Given the description of an element on the screen output the (x, y) to click on. 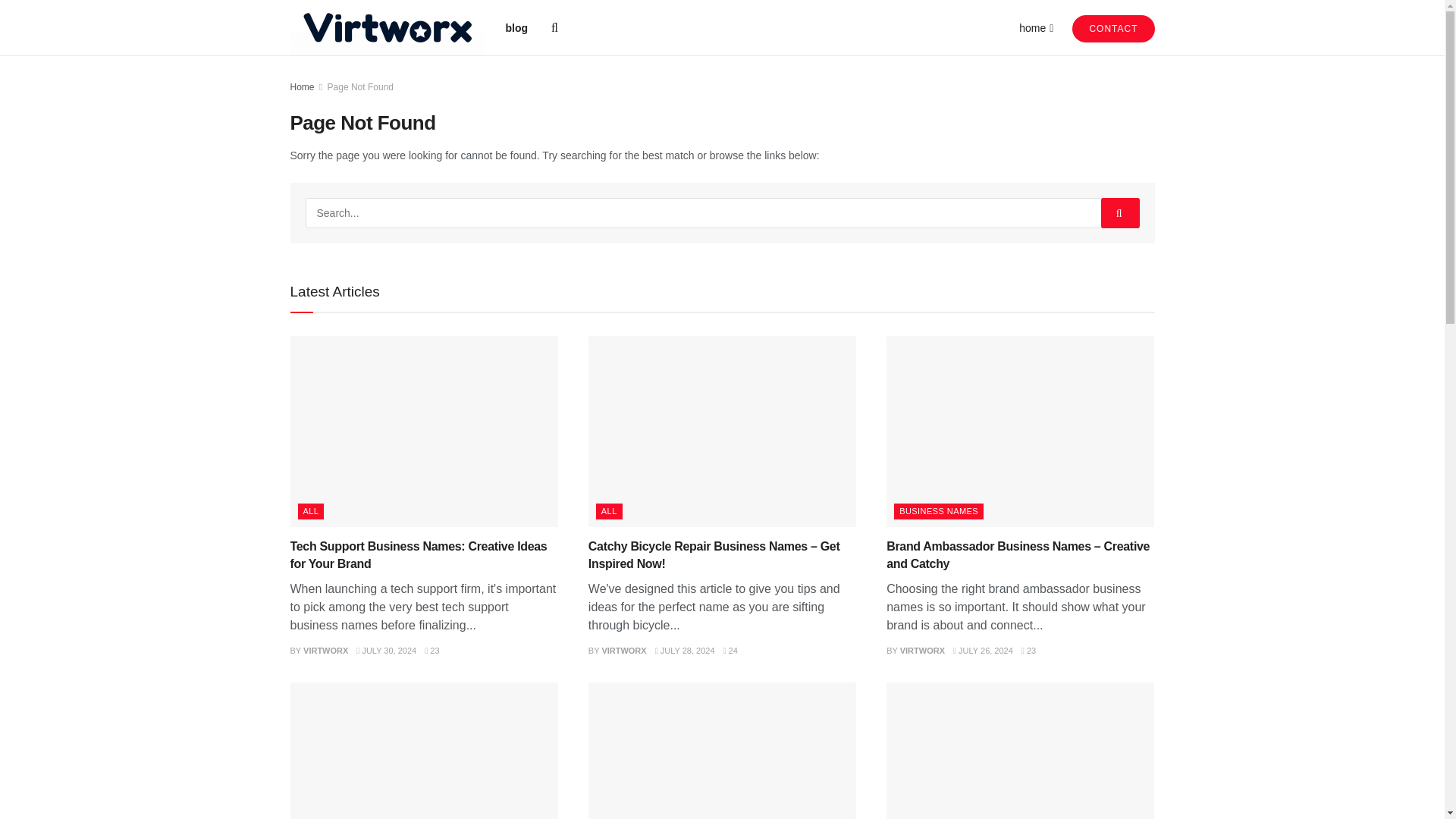
home (1035, 26)
